Given the description of an element on the screen output the (x, y) to click on. 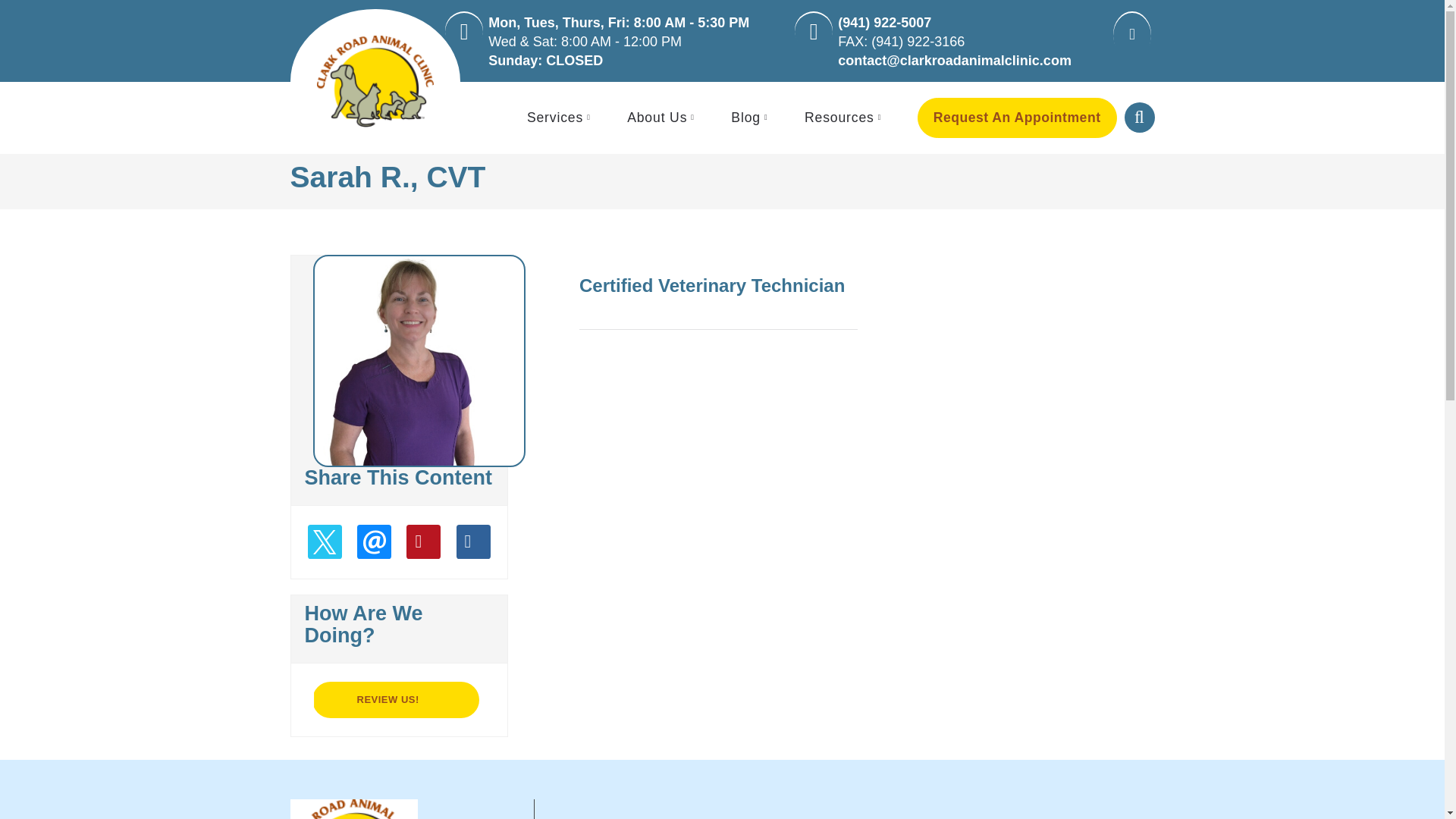
Services (560, 117)
facebook (1128, 38)
About Us (662, 117)
Home (375, 81)
Our Services (560, 117)
